Given the description of an element on the screen output the (x, y) to click on. 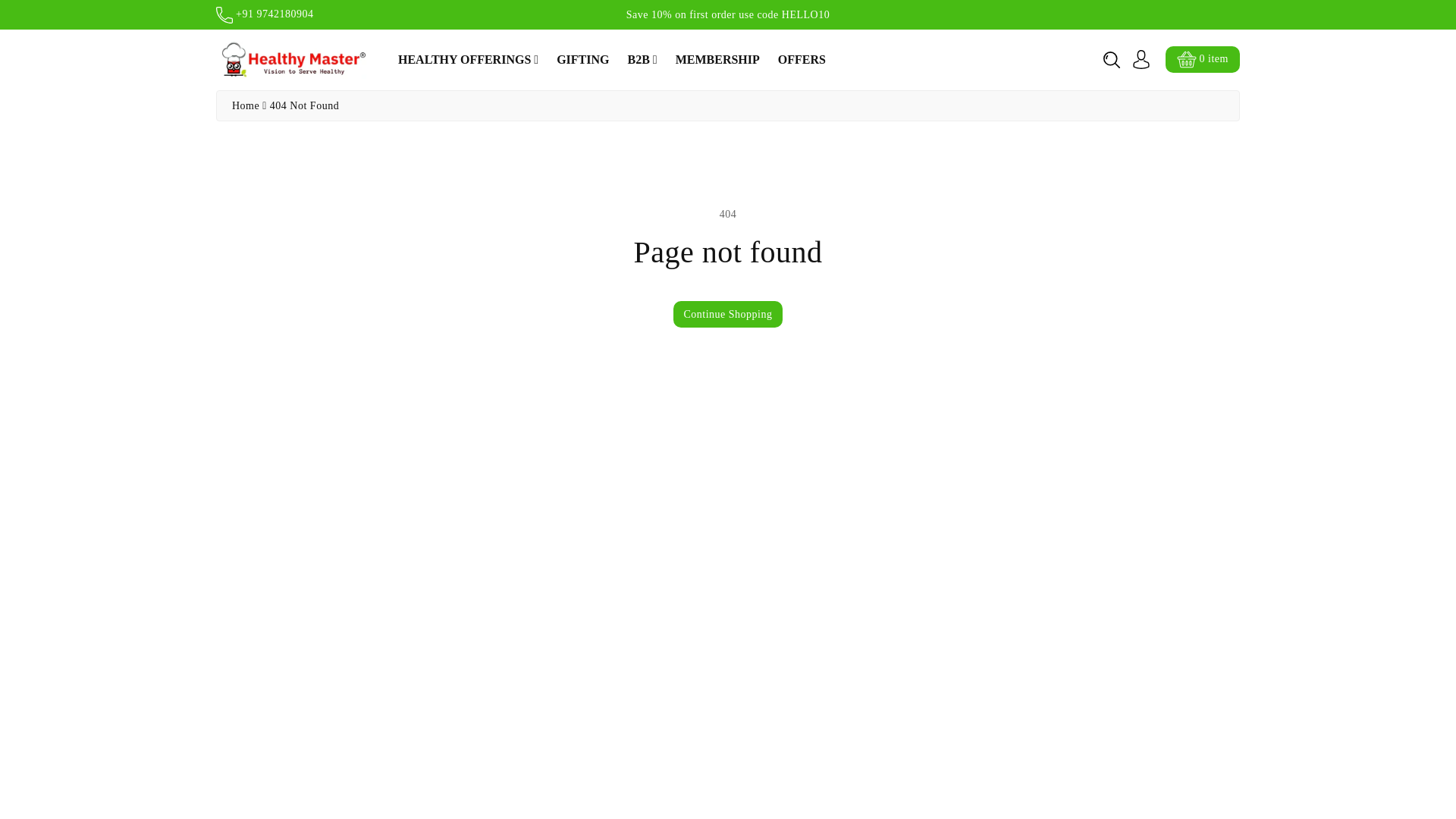
Skip To Content (9, 6)
Home (245, 105)
HEALTHY OFFERINGS (467, 59)
